Given the description of an element on the screen output the (x, y) to click on. 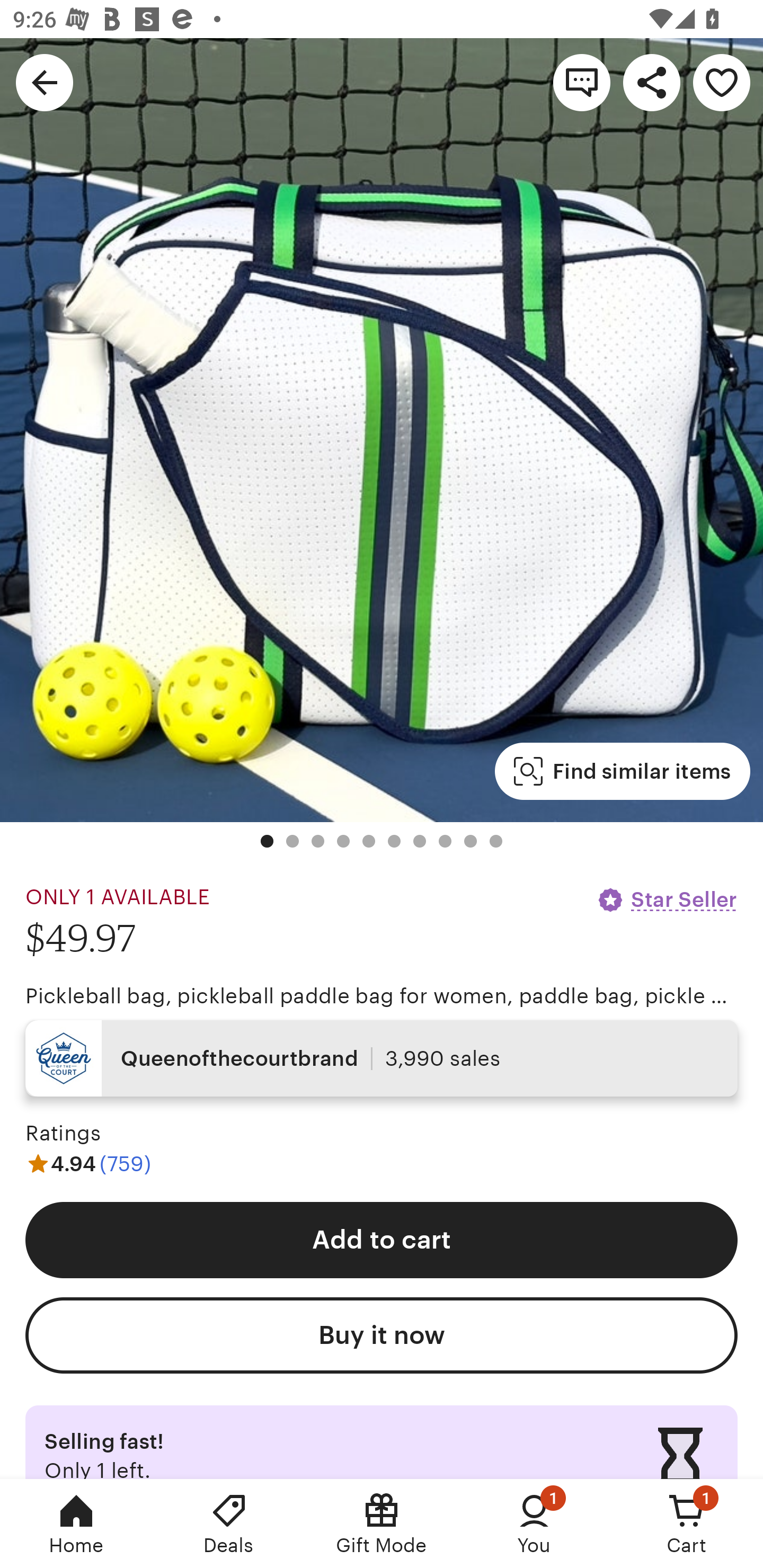
Navigate up (44, 81)
Contact shop (581, 81)
Share (651, 81)
Find similar items (622, 771)
Star Seller (666, 899)
Queenofthecourtbrand 3,990 sales (381, 1058)
Ratings (62, 1133)
4.94 (759) (88, 1163)
Add to cart (381, 1239)
Buy it now (381, 1334)
Deals (228, 1523)
Gift Mode (381, 1523)
You, 1 new notification You (533, 1523)
Cart, 1 new notification Cart (686, 1523)
